Given the description of an element on the screen output the (x, y) to click on. 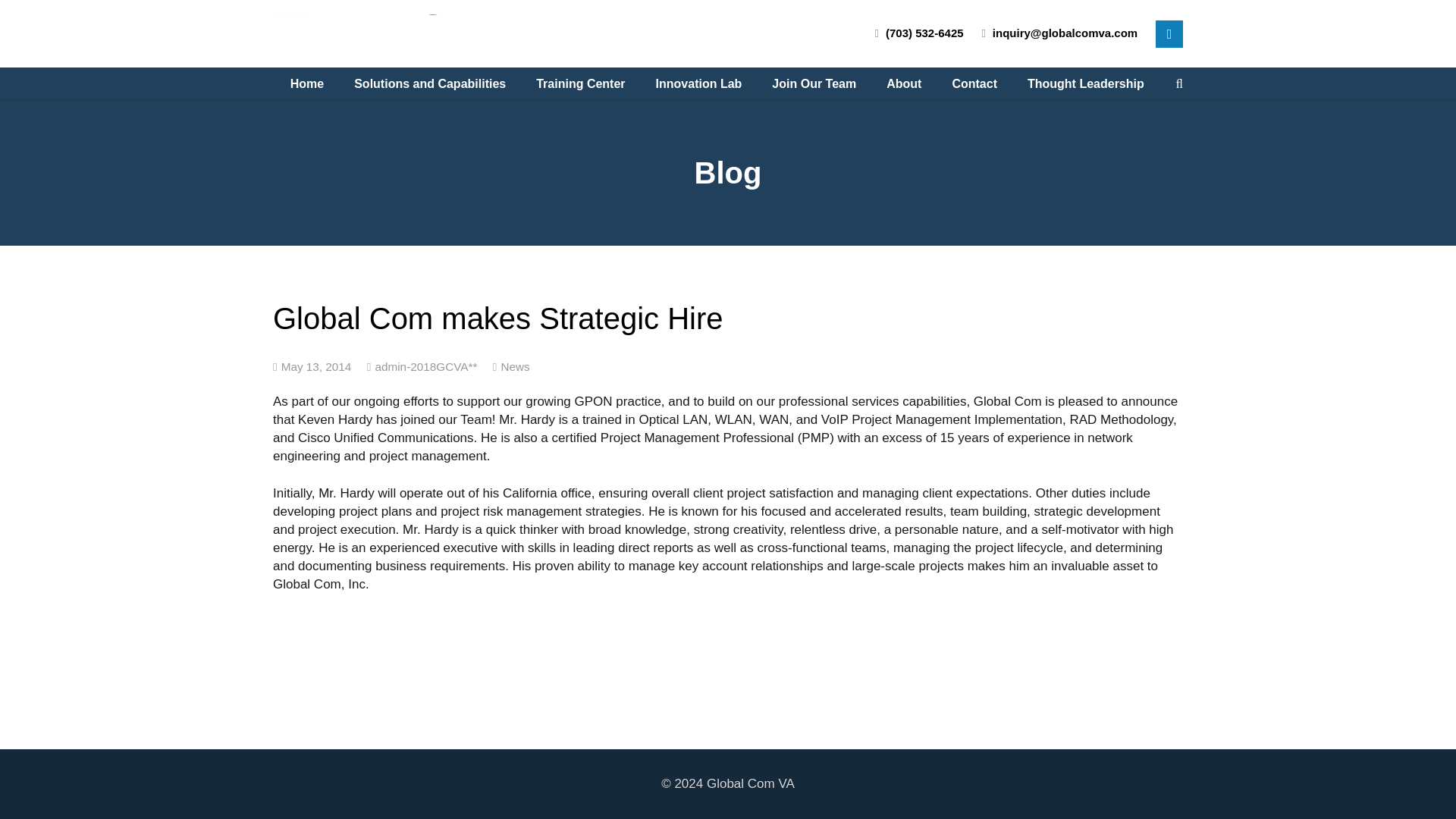
Solutions and Capabilities (430, 84)
Home (307, 84)
Join Our Team (813, 84)
Innovation Lab (698, 84)
About (903, 84)
Training Center (580, 84)
Contact (973, 84)
Thought Leadership (1084, 84)
News (514, 365)
